Given the description of an element on the screen output the (x, y) to click on. 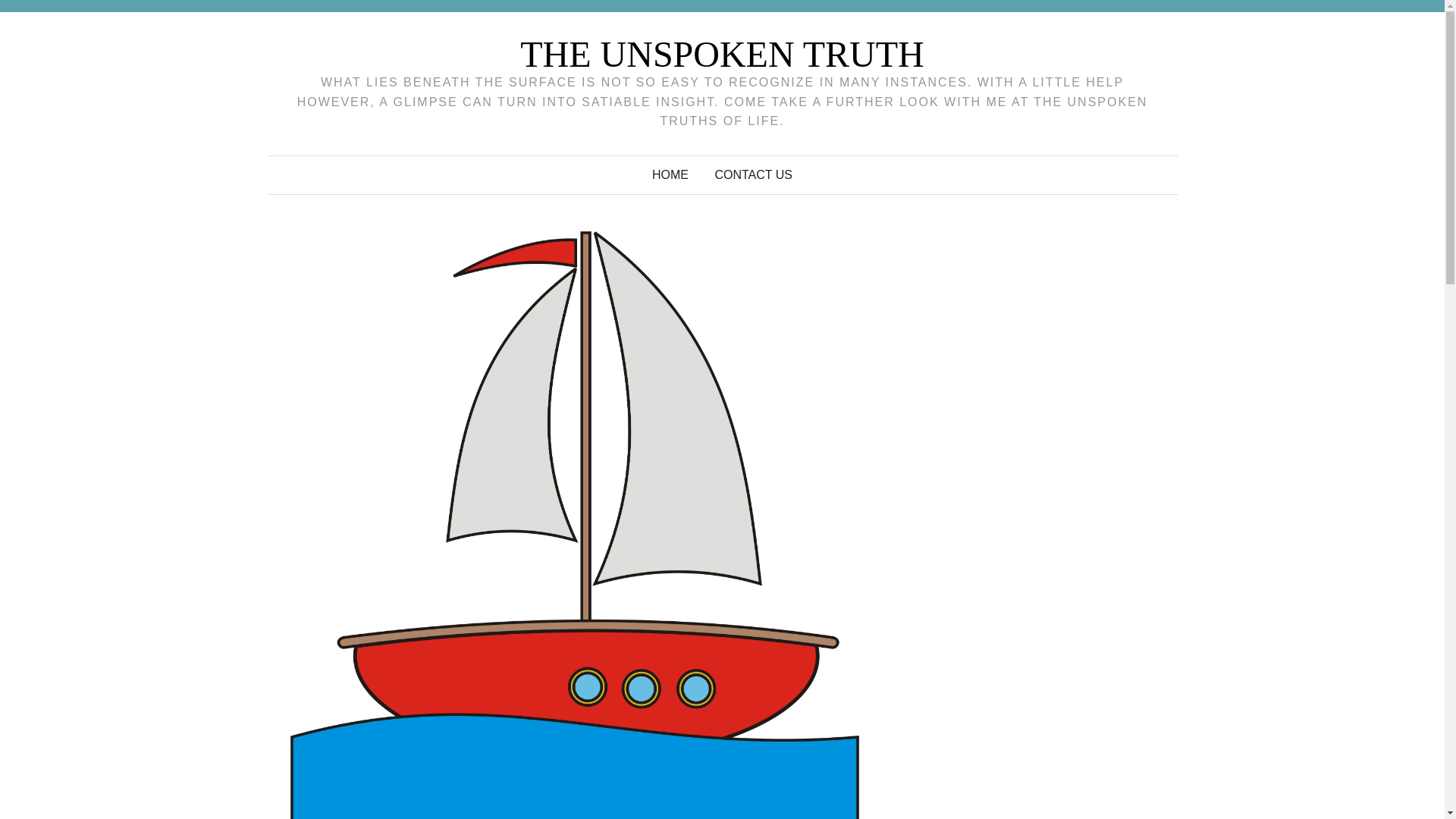
THE UNSPOKEN TRUTH (721, 54)
HOME (670, 175)
CONTACT US (753, 175)
